Given the description of an element on the screen output the (x, y) to click on. 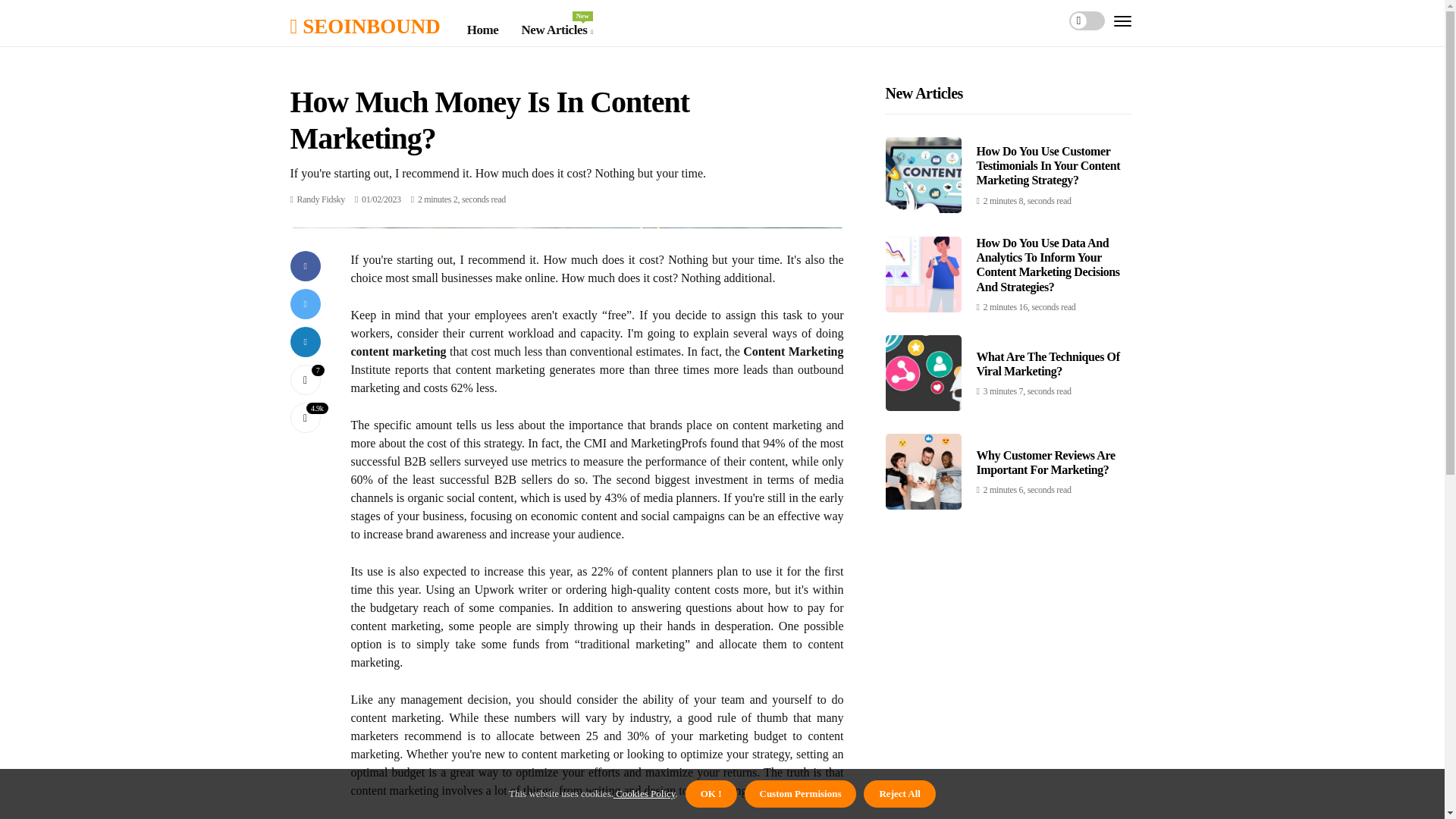
What Are The Techniques Of Viral Marketing? (1047, 363)
Like (304, 379)
Posts by Randy Fidsky (321, 199)
Why Customer Reviews Are Important For Marketing? (1045, 461)
Randy Fidsky (321, 199)
7 (556, 30)
SEOINBOUND (304, 379)
